Given the description of an element on the screen output the (x, y) to click on. 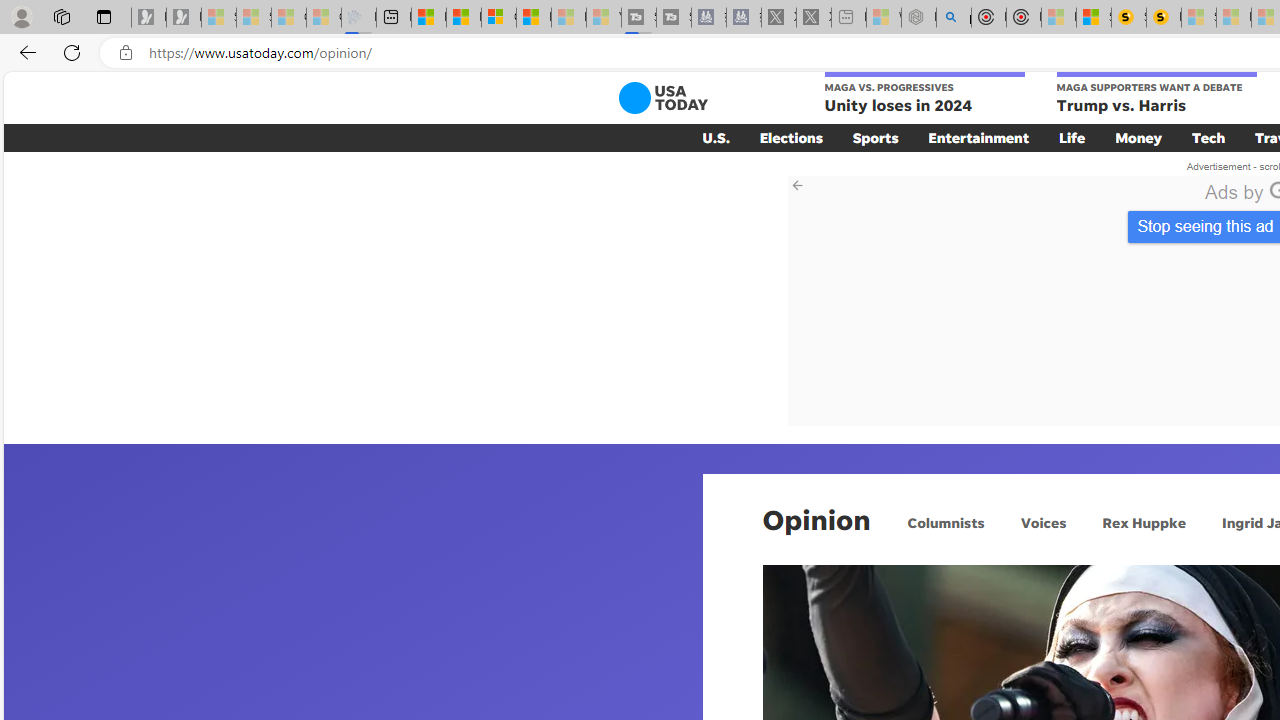
Columnists (945, 521)
Entertainment (978, 137)
Tech (1208, 137)
